Given the description of an element on the screen output the (x, y) to click on. 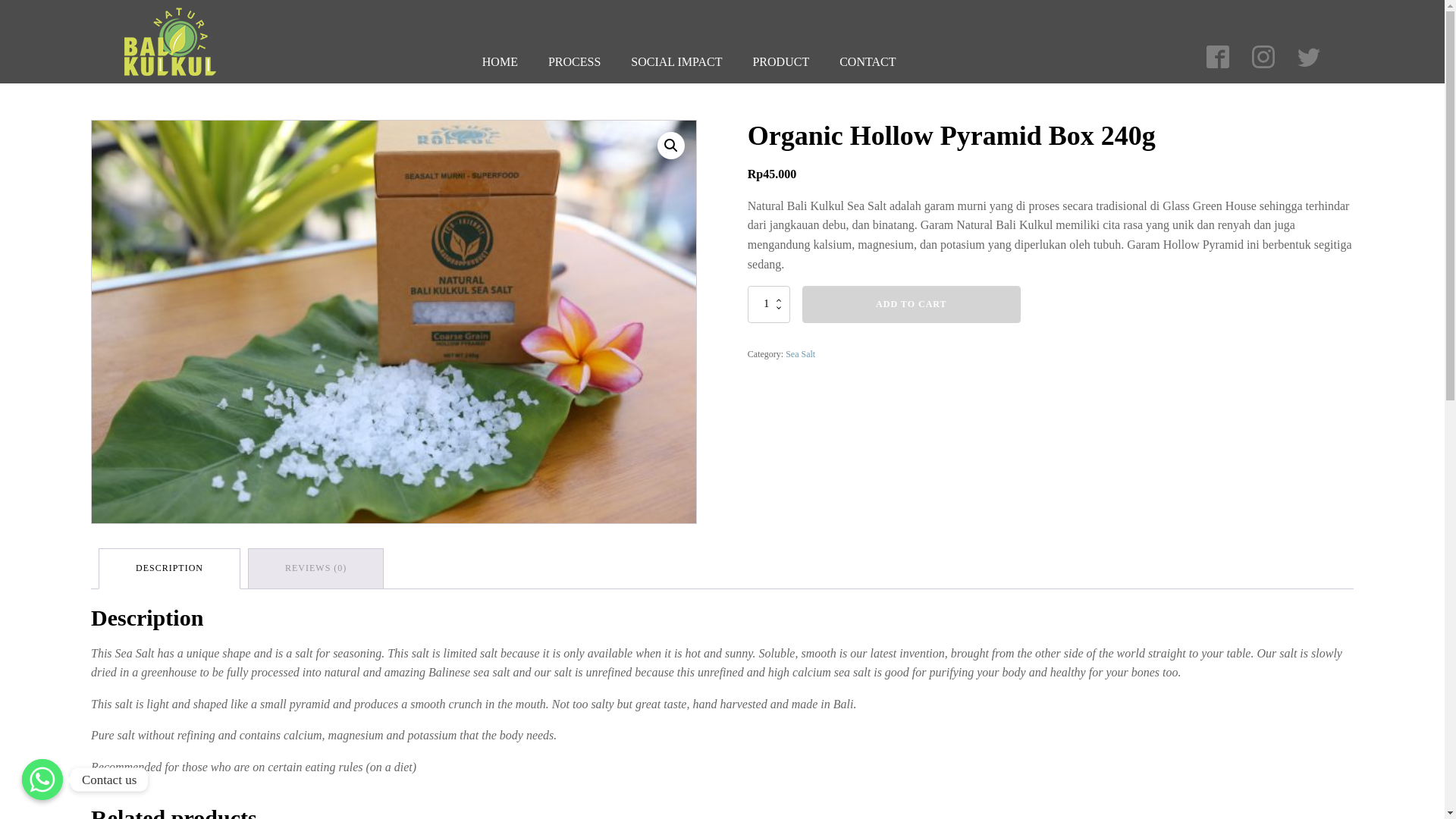
SOCIAL IMPACT (675, 62)
Contact us (41, 779)
CONTACT (867, 62)
PRODUCT (780, 62)
PROCESS (573, 62)
1 (769, 303)
HOME (499, 62)
DESCRIPTION (169, 568)
Sea Salt (800, 353)
ADD TO CART (911, 303)
